Given the description of an element on the screen output the (x, y) to click on. 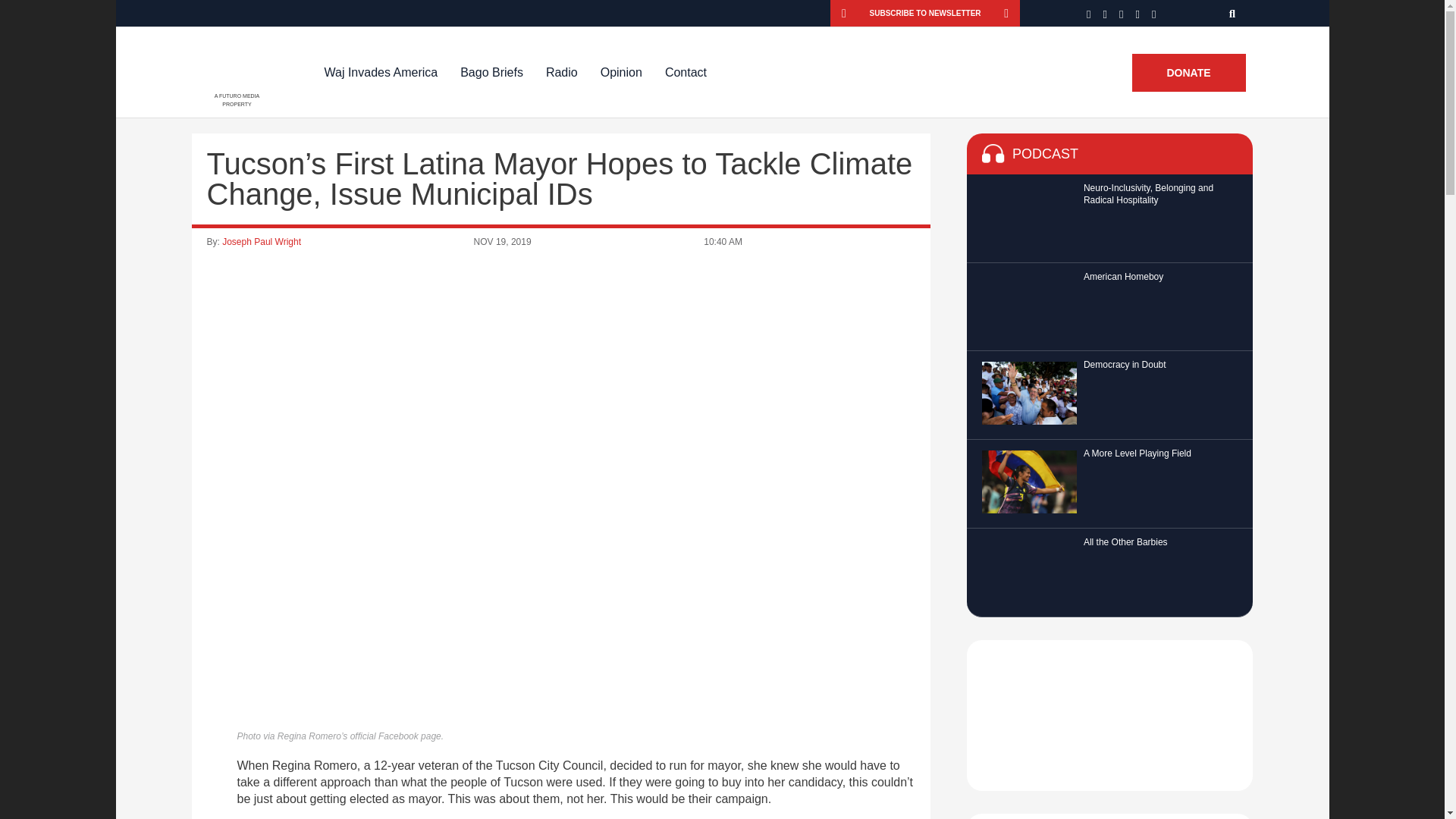
Search (1233, 13)
Subscribe to newsletter (924, 13)
Posts by Joseph Paul Wright (261, 241)
Joseph Paul Wright (261, 241)
Search (1233, 13)
Waj Invades America (380, 72)
DONATE (1187, 72)
Search (1233, 13)
Bago Briefs (491, 72)
